Given the description of an element on the screen output the (x, y) to click on. 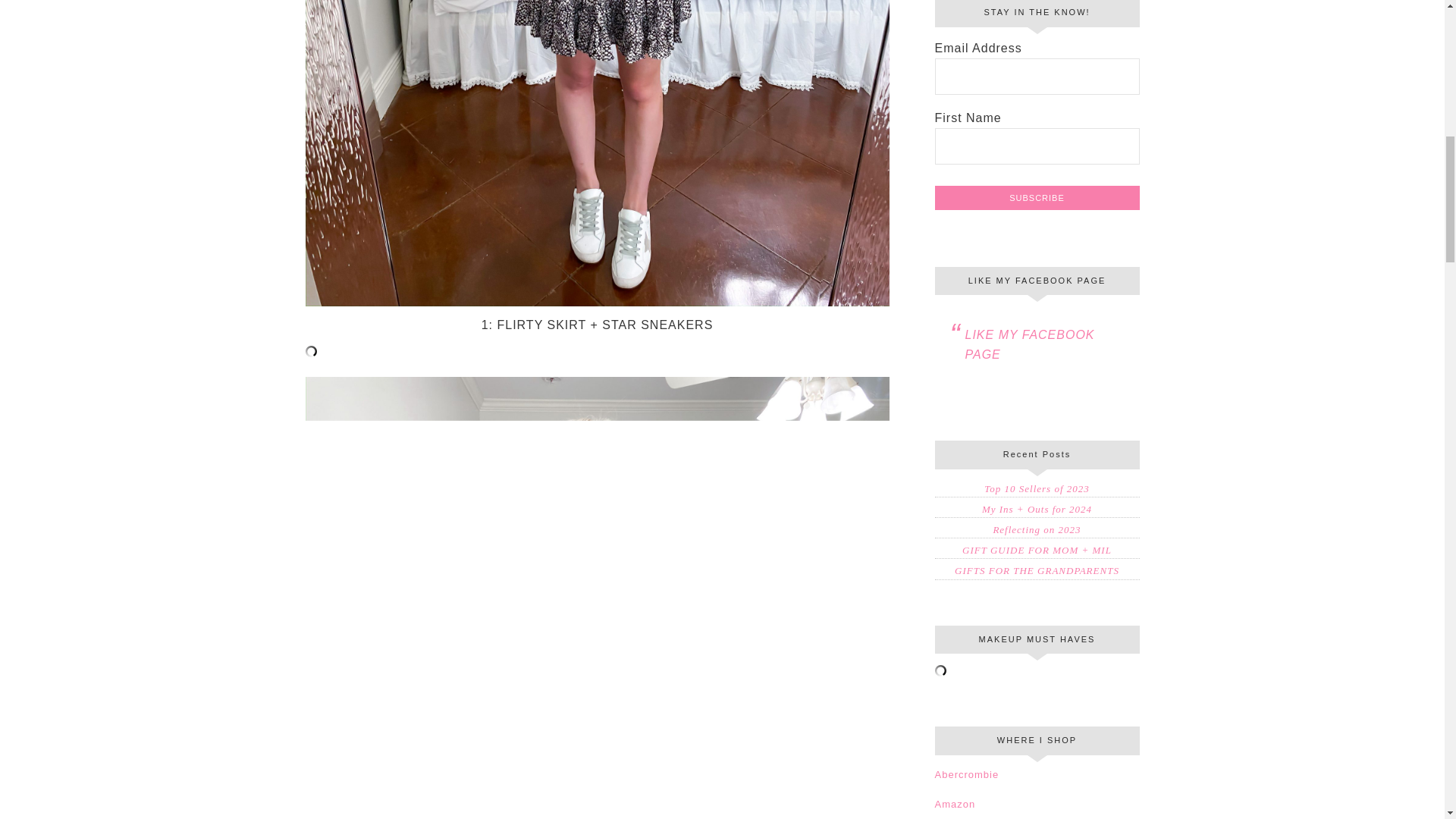
Subscribe (1036, 197)
